Given the description of an element on the screen output the (x, y) to click on. 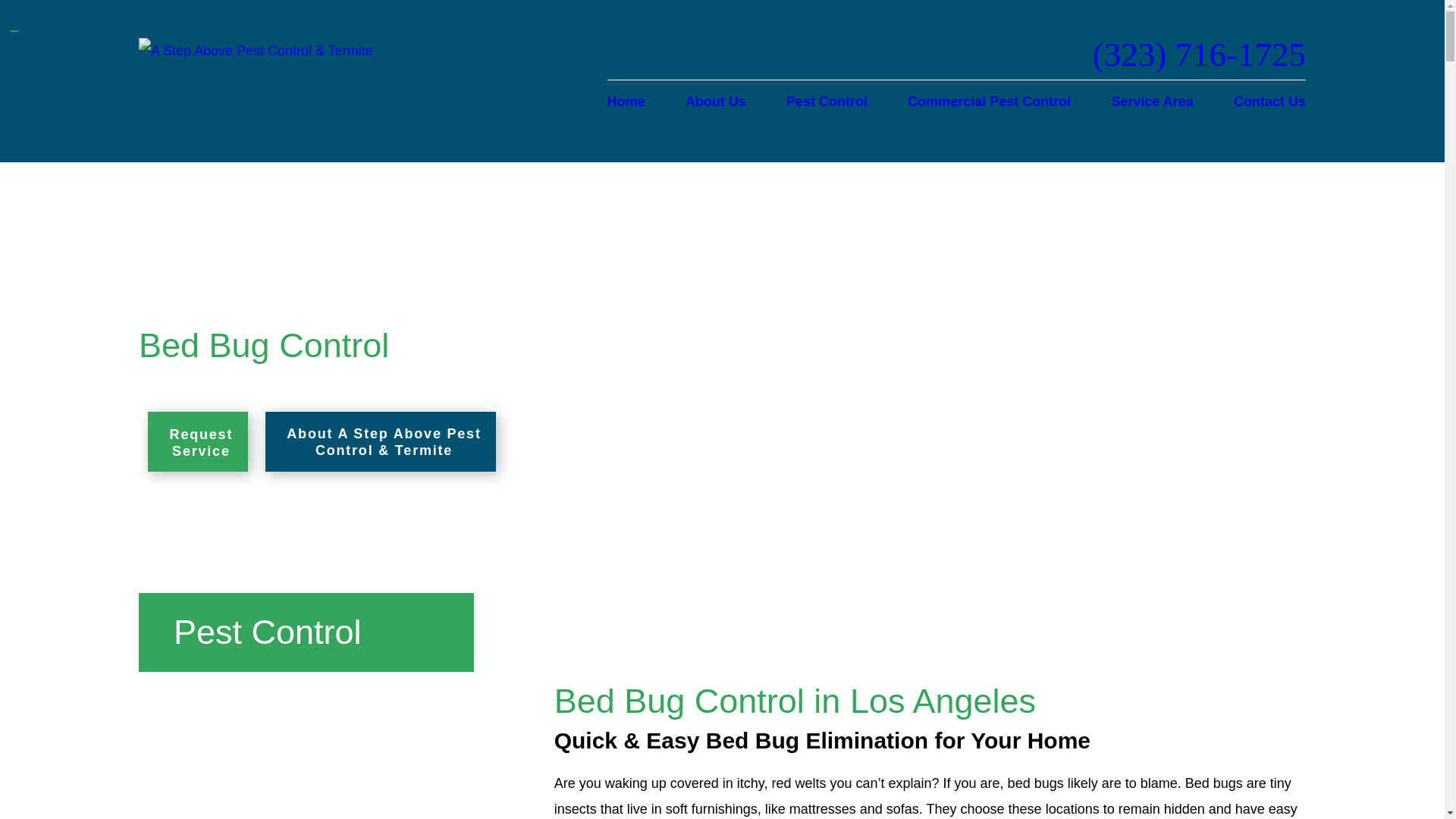
Home (634, 102)
Service Area (1151, 102)
Open the accessibility options menu (1423, 798)
Pest Control (826, 102)
About Us (715, 102)
Commercial Pest Control (988, 102)
